Given the description of an element on the screen output the (x, y) to click on. 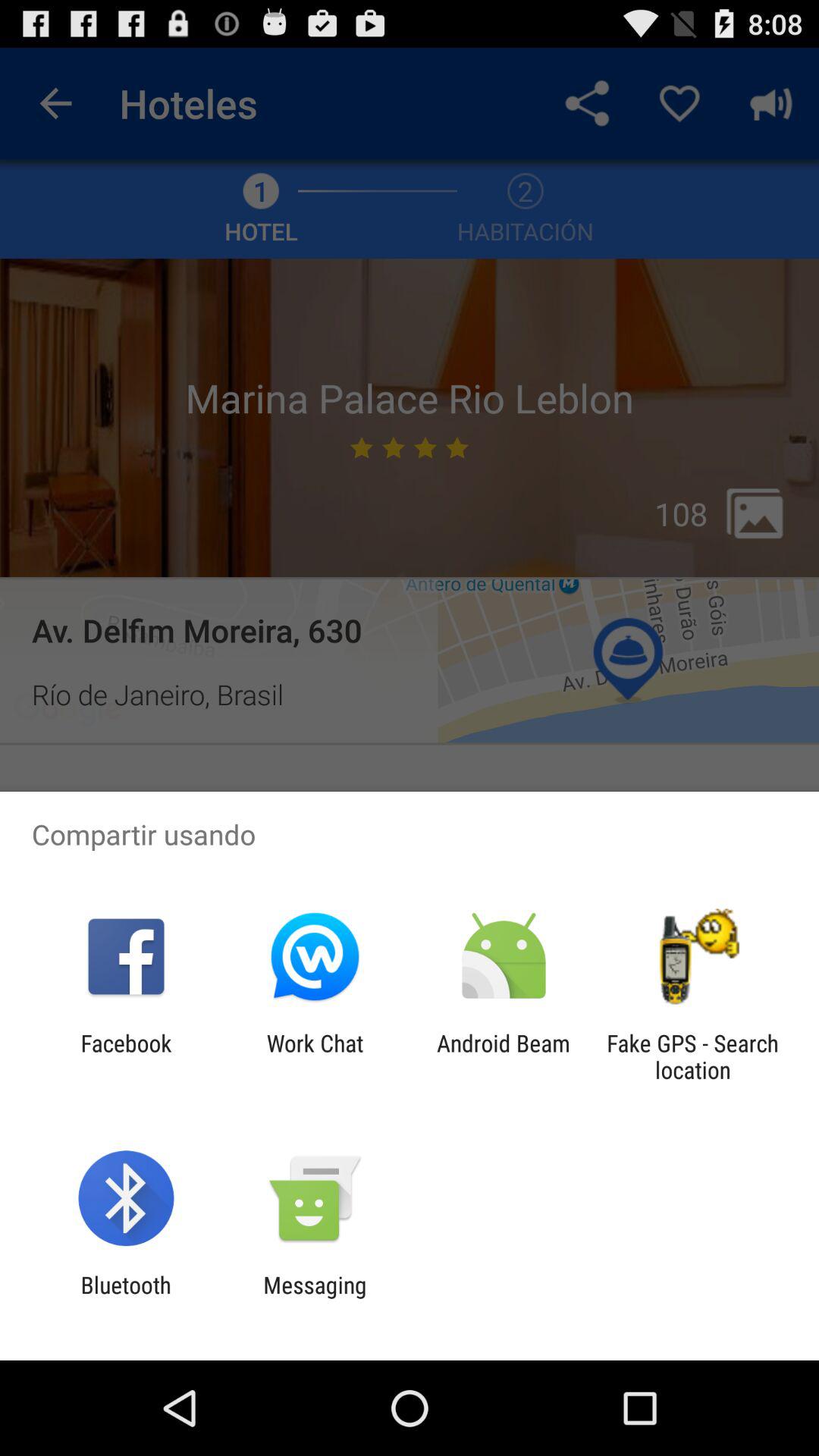
turn off item next to facebook (314, 1056)
